Given the description of an element on the screen output the (x, y) to click on. 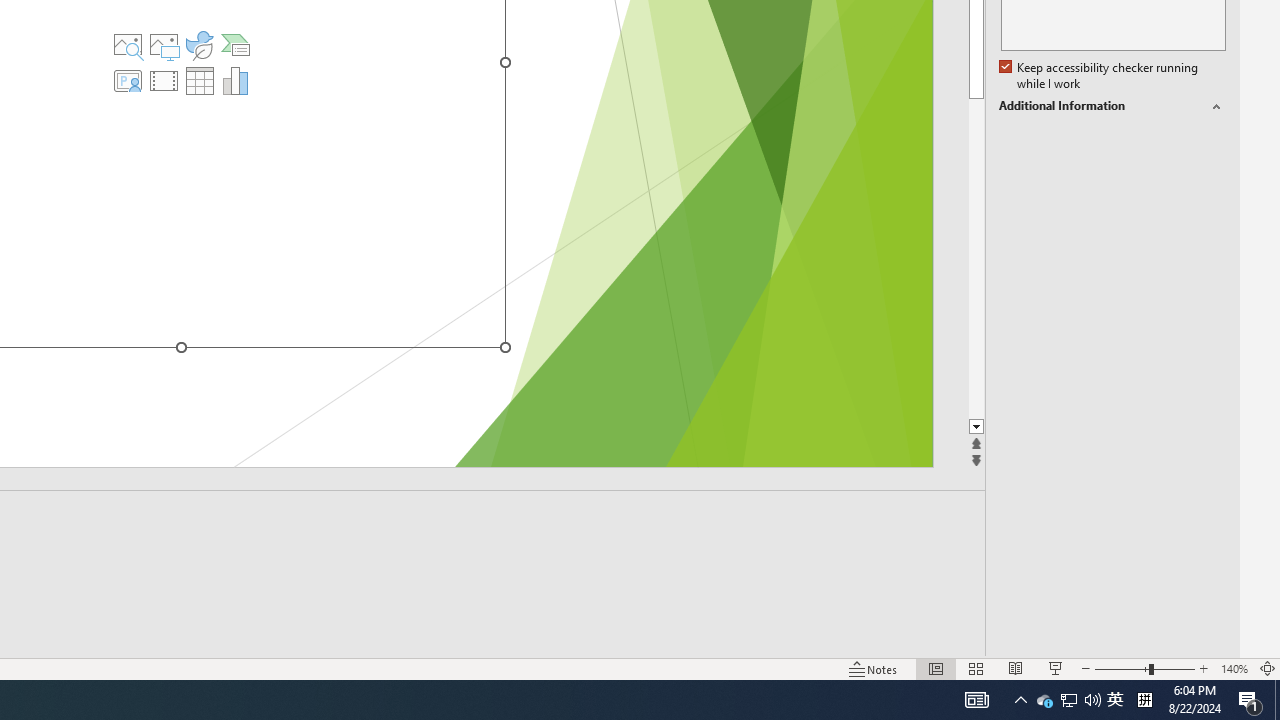
Insert an Icon (200, 44)
Insert Cameo (127, 80)
Insert Video (164, 80)
Zoom 140% (1234, 668)
Insert a SmartArt Graphic (236, 44)
Insert Chart (236, 80)
